Given the description of an element on the screen output the (x, y) to click on. 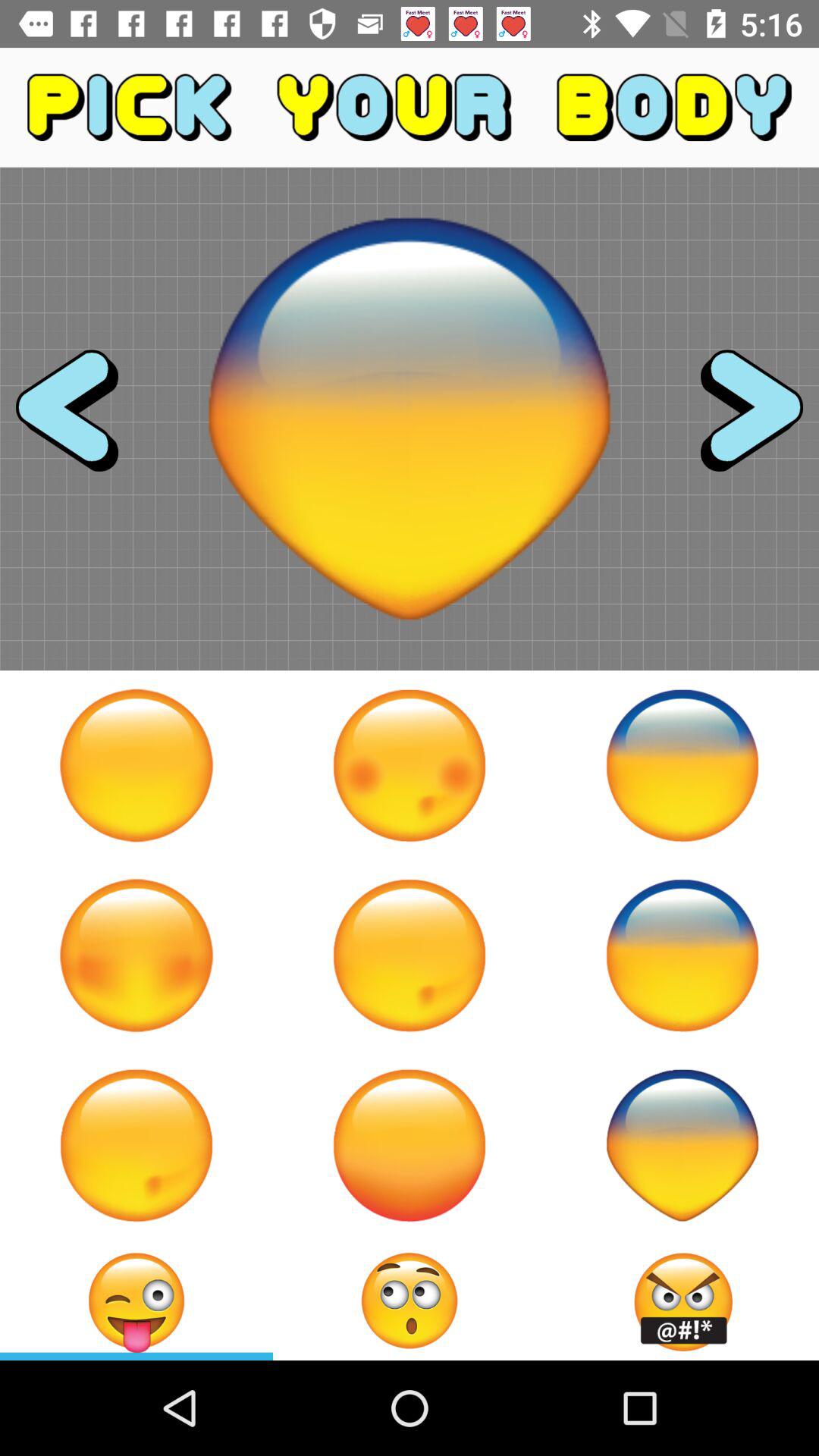
quieres ser un emoticono (682, 765)
